Given the description of an element on the screen output the (x, y) to click on. 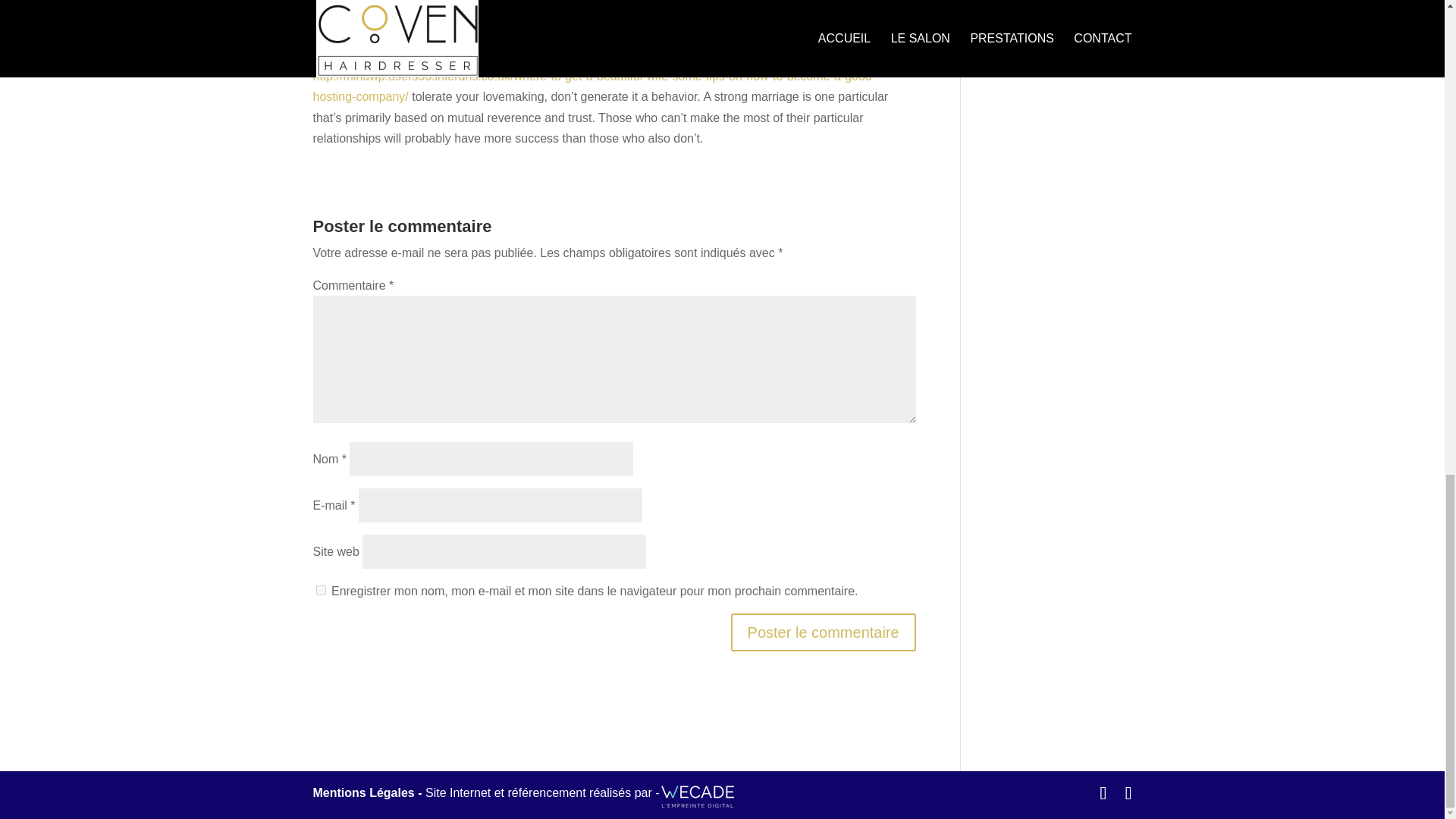
yes (319, 590)
Poster le commentaire (822, 632)
Poster le commentaire (822, 632)
